Given the description of an element on the screen output the (x, y) to click on. 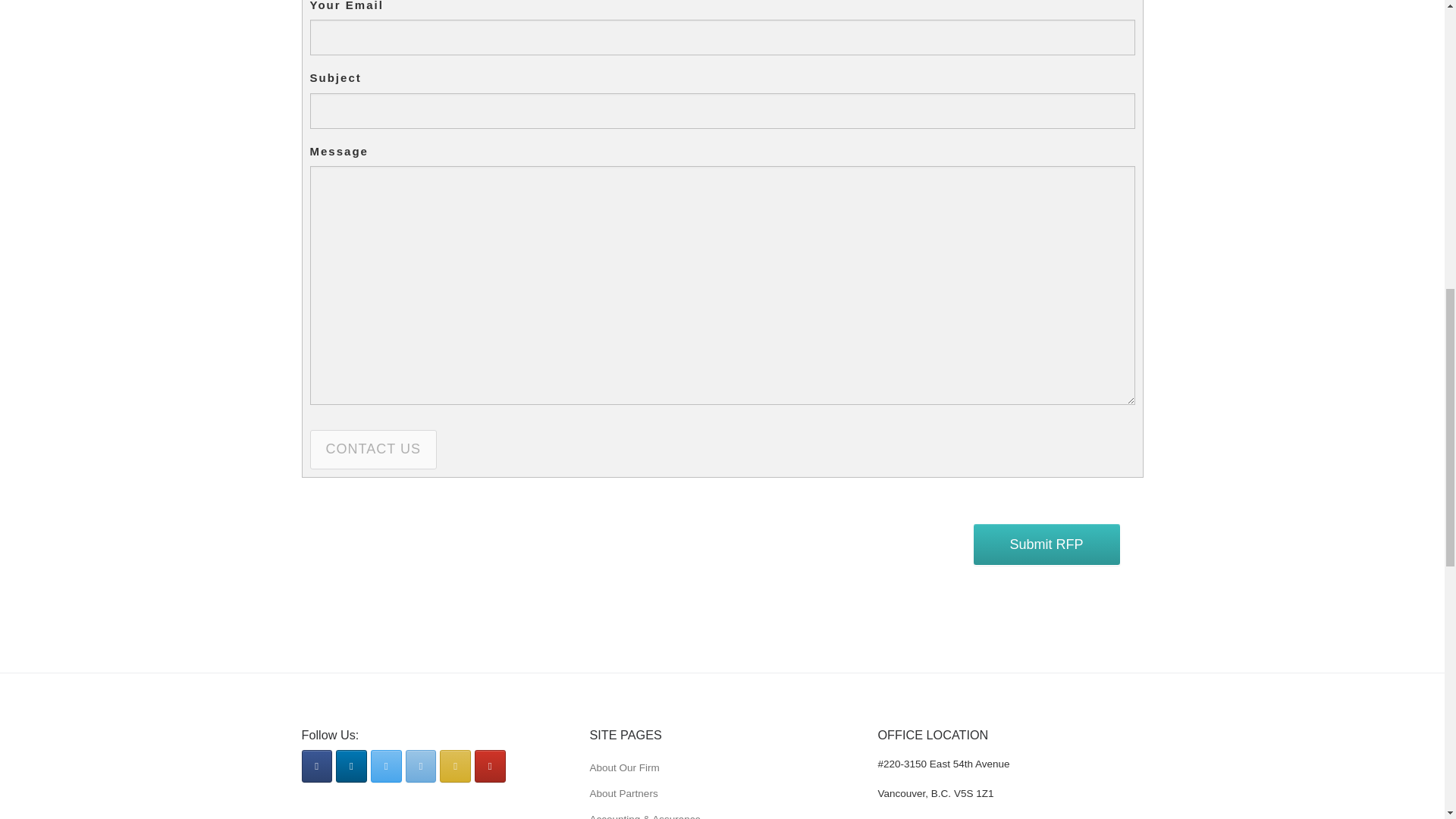
Nicholas Kilpatrick (421, 766)
Twitter (386, 766)
LinkedIn (351, 766)
Facebook (317, 766)
